Given the description of an element on the screen output the (x, y) to click on. 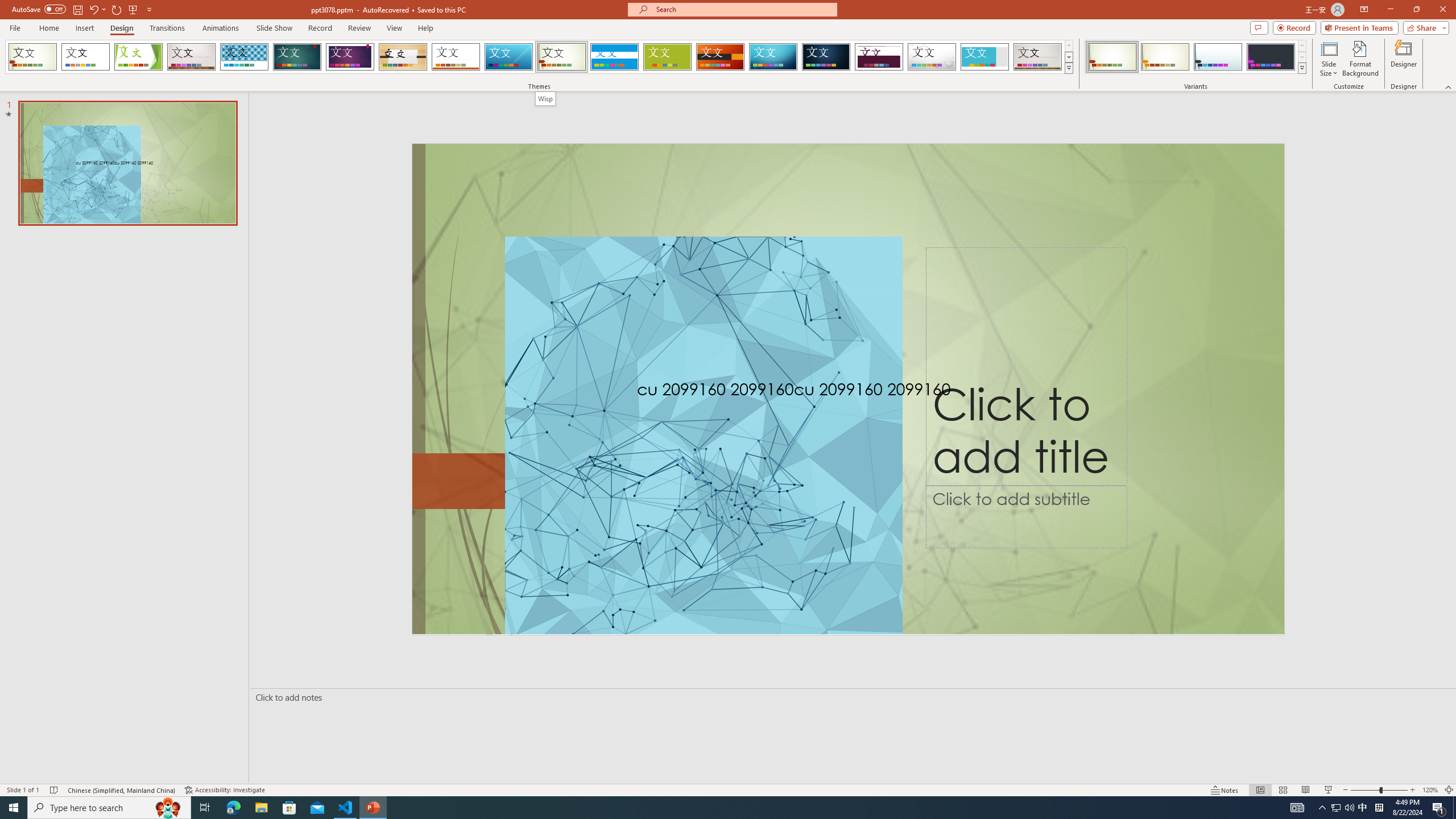
Restore Down (1416, 9)
Review (359, 28)
Retrospect Loading Preview... (455, 56)
From Beginning (133, 9)
Animations (220, 28)
Zoom 120% (1430, 790)
Zoom (1379, 790)
Slide Size (1328, 58)
Class: NetUIImage (1302, 68)
Transitions (167, 28)
Office Theme (85, 56)
Zoom to Fit  (1449, 790)
View (395, 28)
Ribbon Display Options (1364, 9)
